Given the description of an element on the screen output the (x, y) to click on. 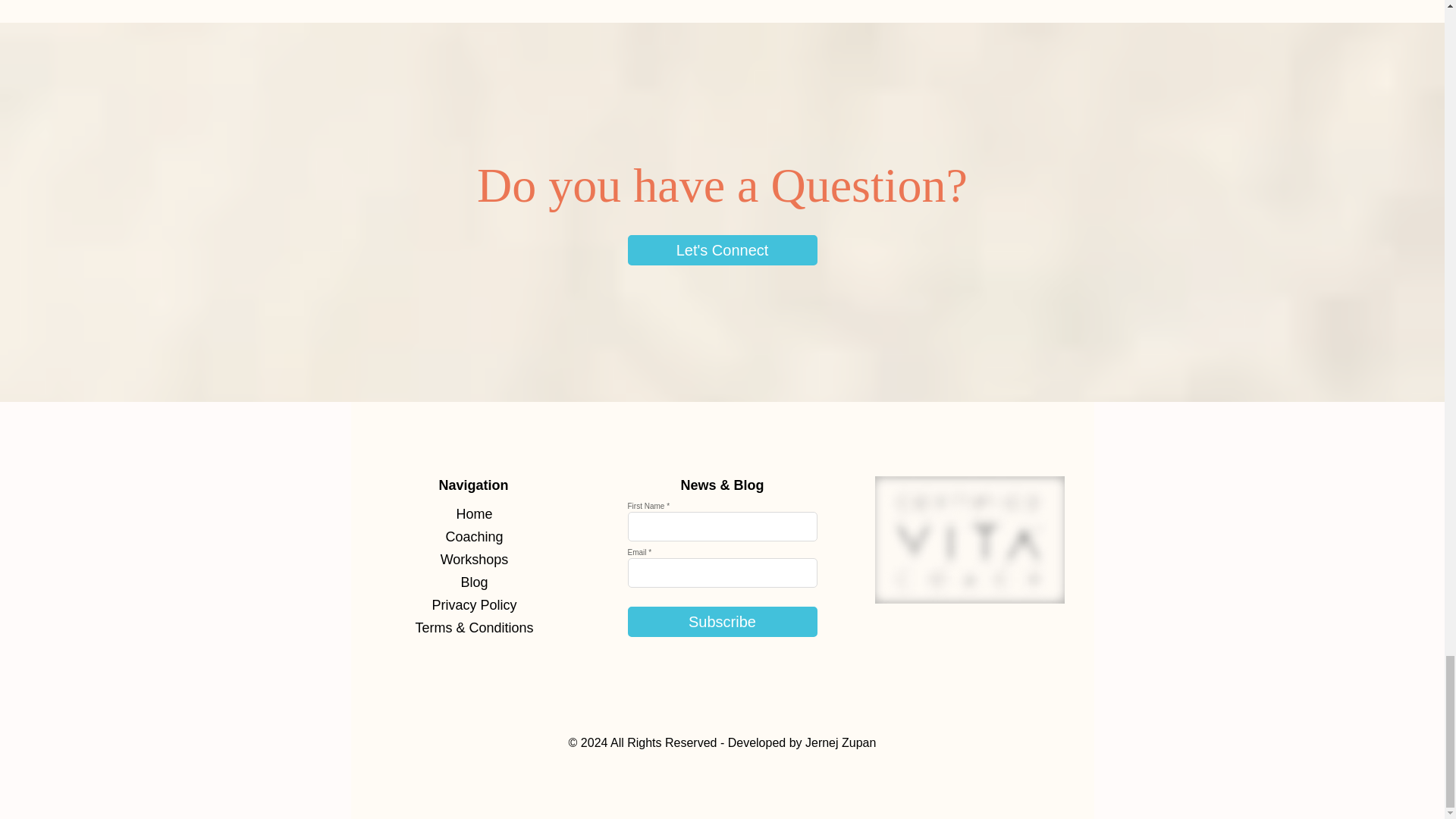
Privacy Policy (473, 604)
Home (473, 513)
Blog (473, 581)
Let's Connect (721, 249)
Workshops (473, 558)
Coaching (473, 536)
Subscribe (721, 621)
